Given the description of an element on the screen output the (x, y) to click on. 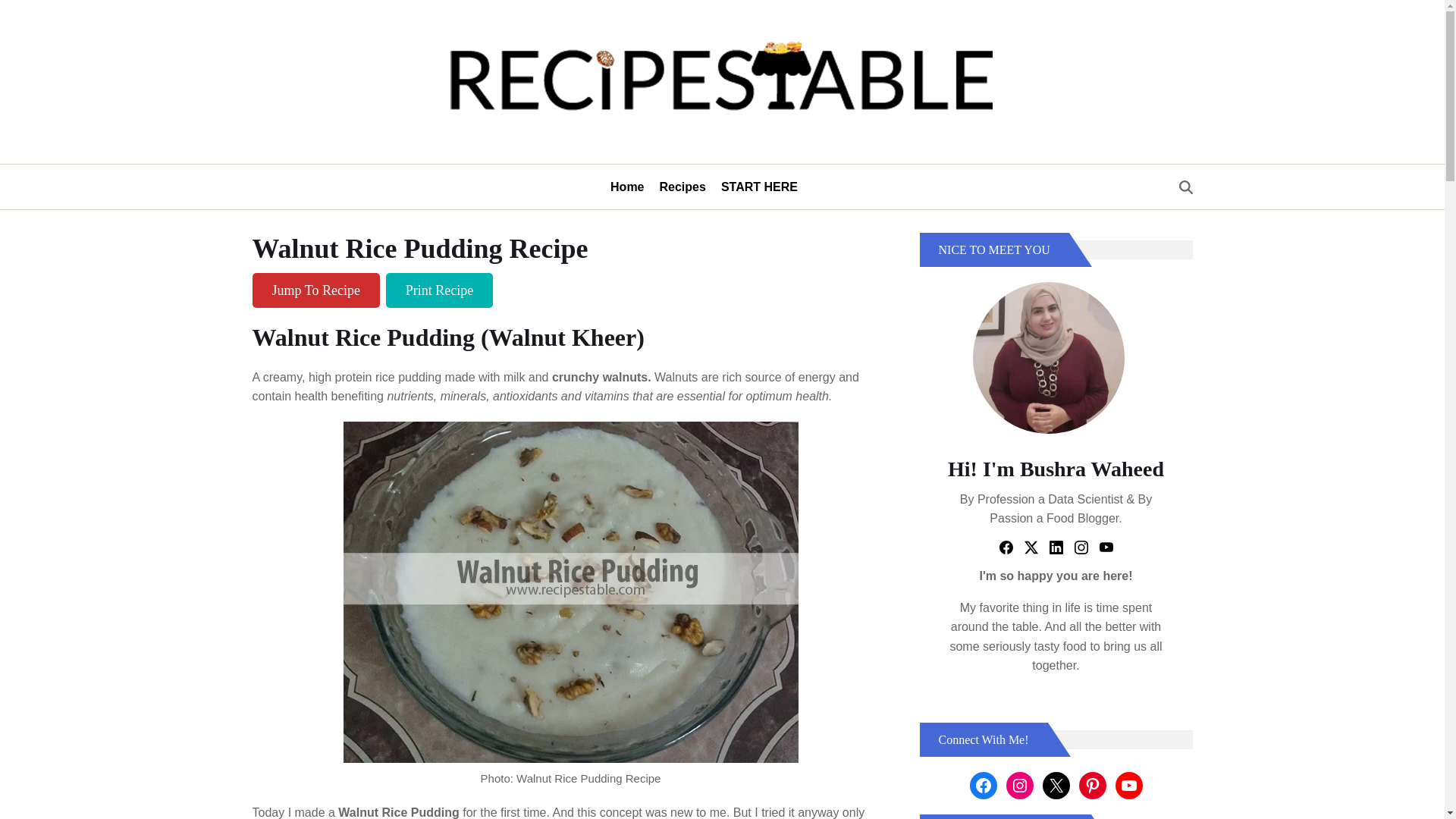
Recipes (682, 186)
START HERE (758, 186)
Learn More (1056, 684)
Jump To Recipe (314, 289)
Print Recipe (439, 289)
